Given the description of an element on the screen output the (x, y) to click on. 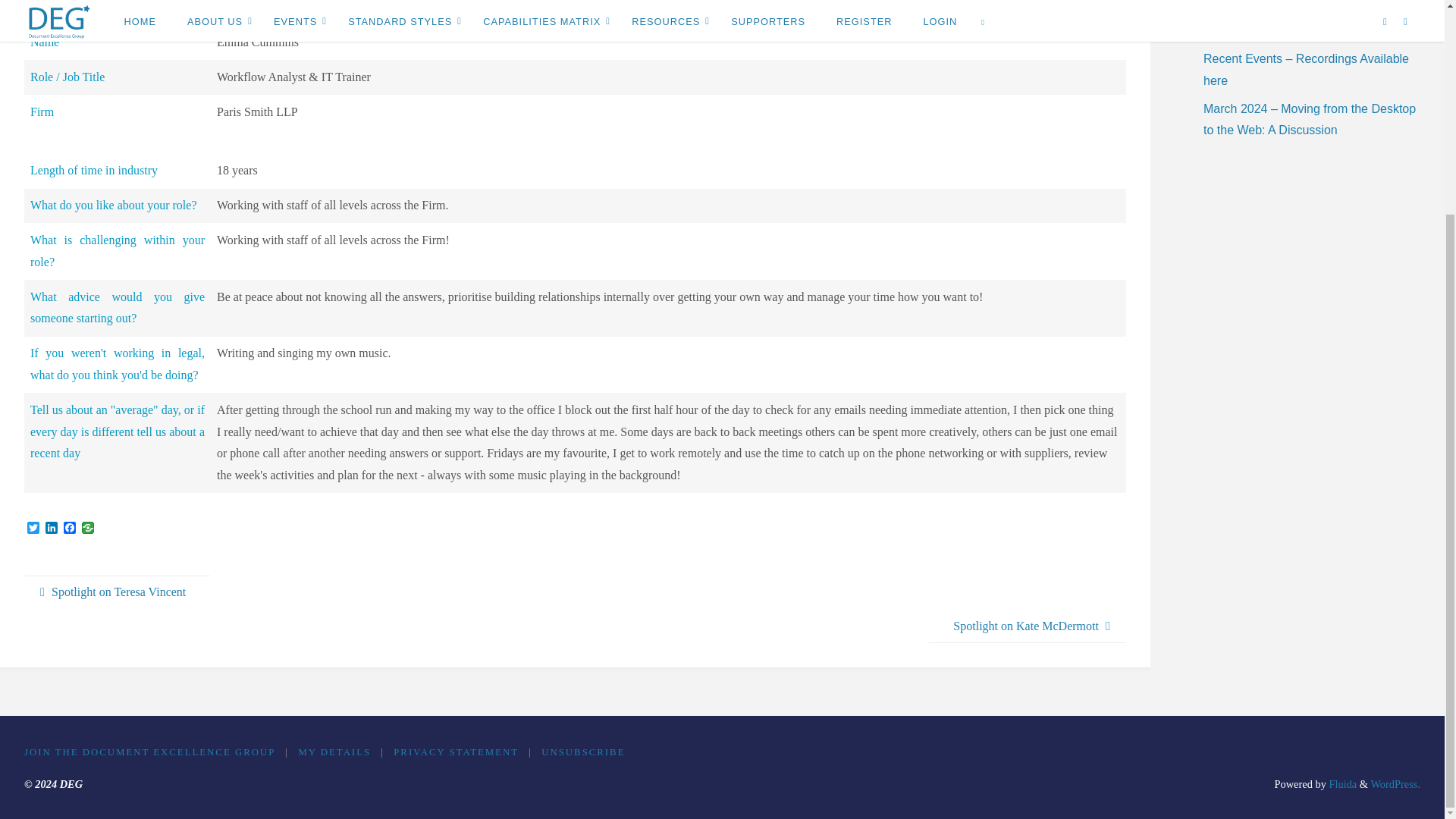
Fluida WordPress Theme by Cryout Creations (1341, 784)
Facebook (69, 528)
Twitter (33, 528)
LinkedIn (51, 528)
